Given the description of an element on the screen output the (x, y) to click on. 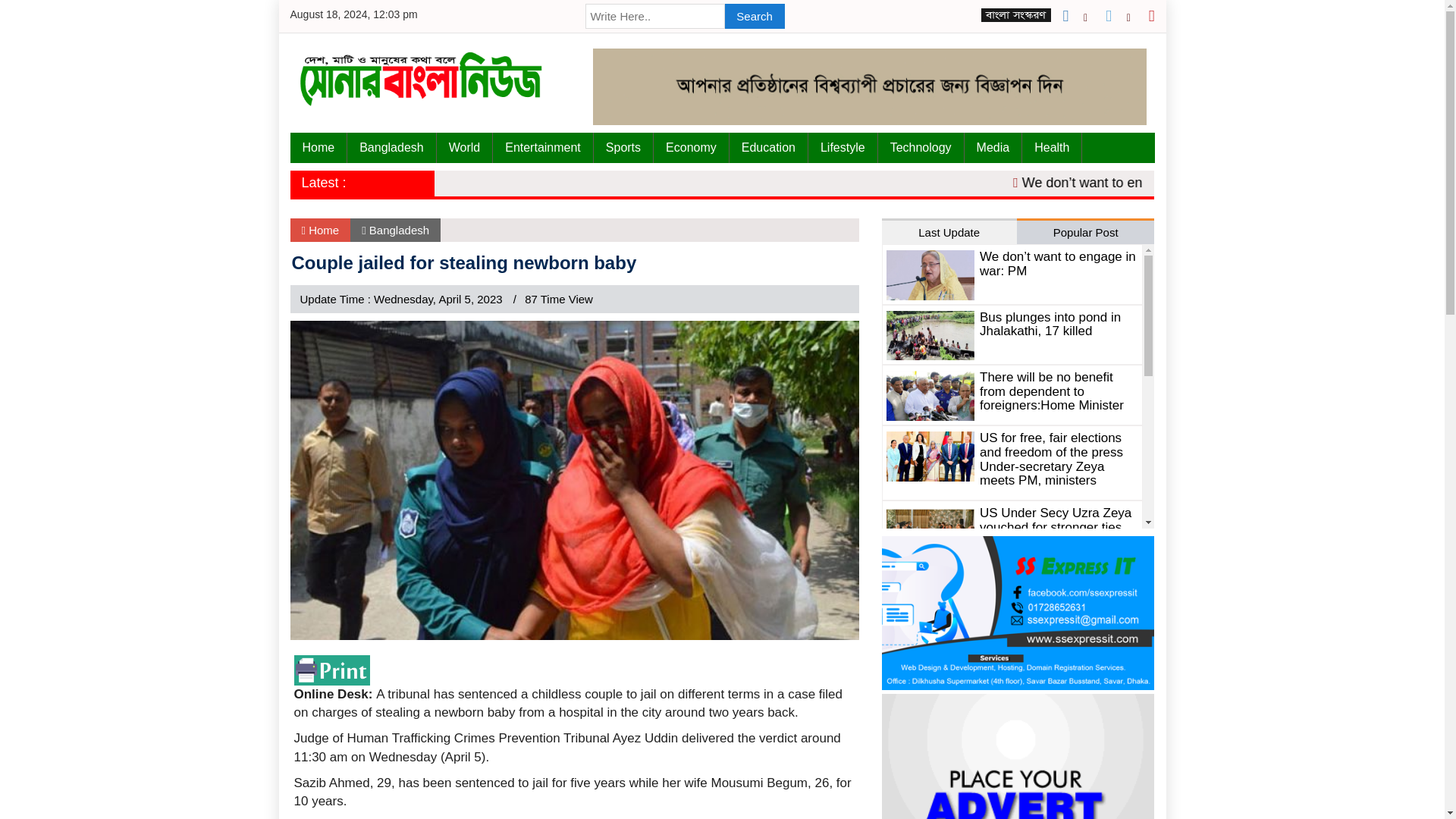
Media (993, 147)
Media (993, 147)
Search (754, 16)
Sports (623, 147)
Health (1051, 147)
Technology (920, 147)
Education (768, 147)
Entertainment (543, 147)
Economy (691, 147)
Home (318, 147)
